Given the description of an element on the screen output the (x, y) to click on. 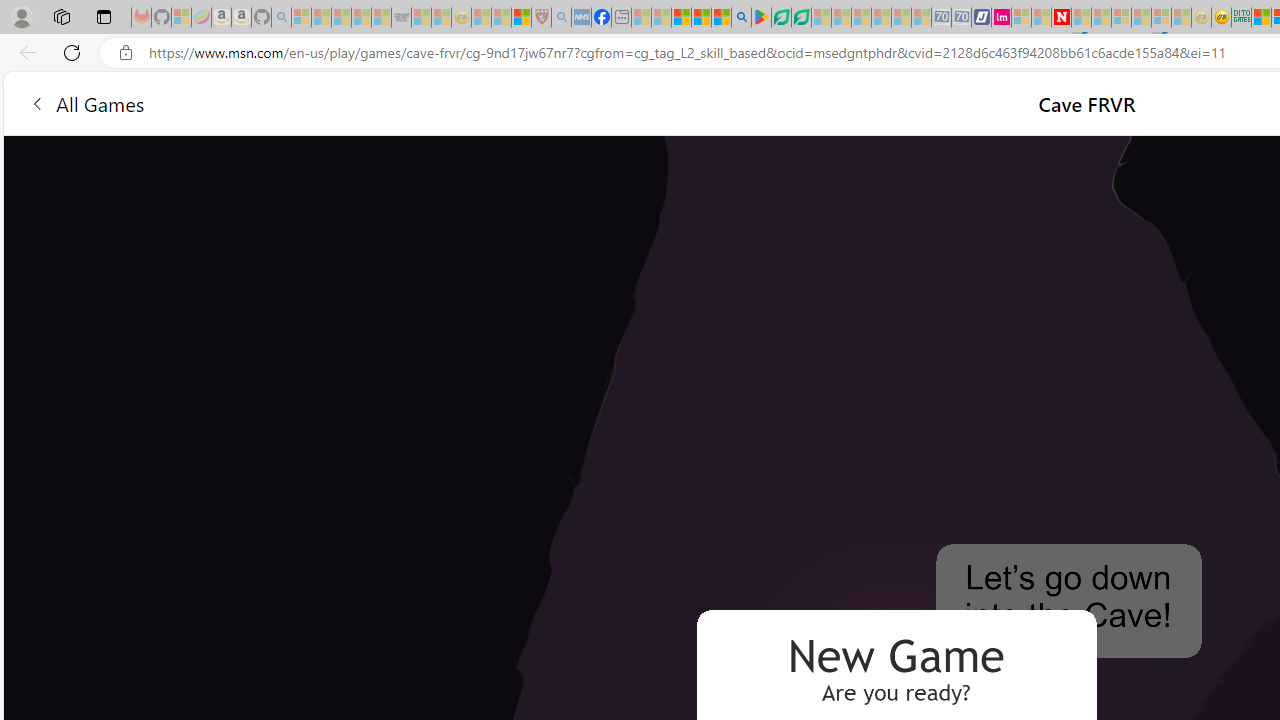
Local - MSN (521, 17)
MSNBC - MSN - Sleeping (641, 17)
DITOGAMES AG Imprint (1240, 17)
